Given the description of an element on the screen output the (x, y) to click on. 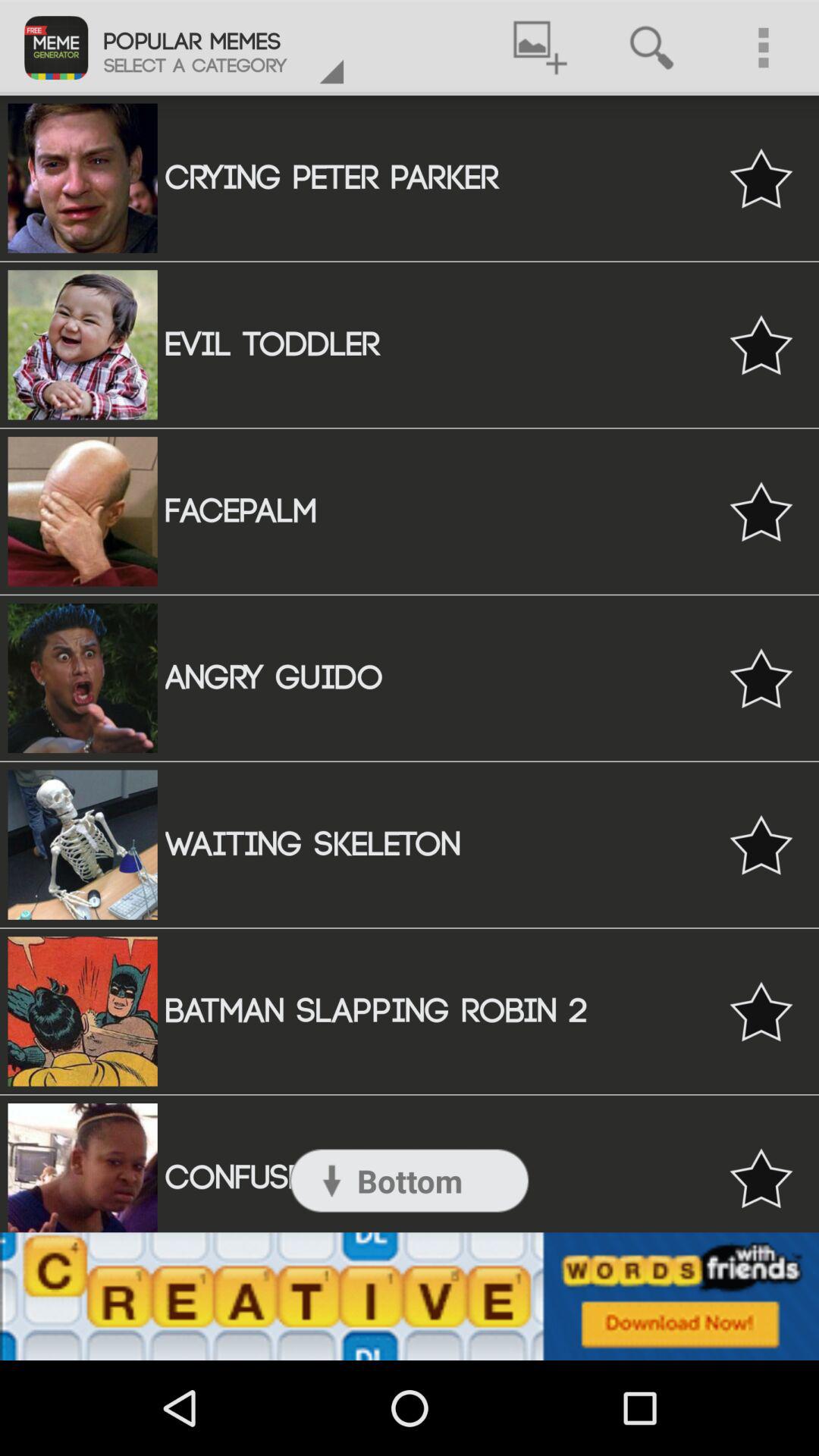
add to favels (761, 1177)
